Given the description of an element on the screen output the (x, y) to click on. 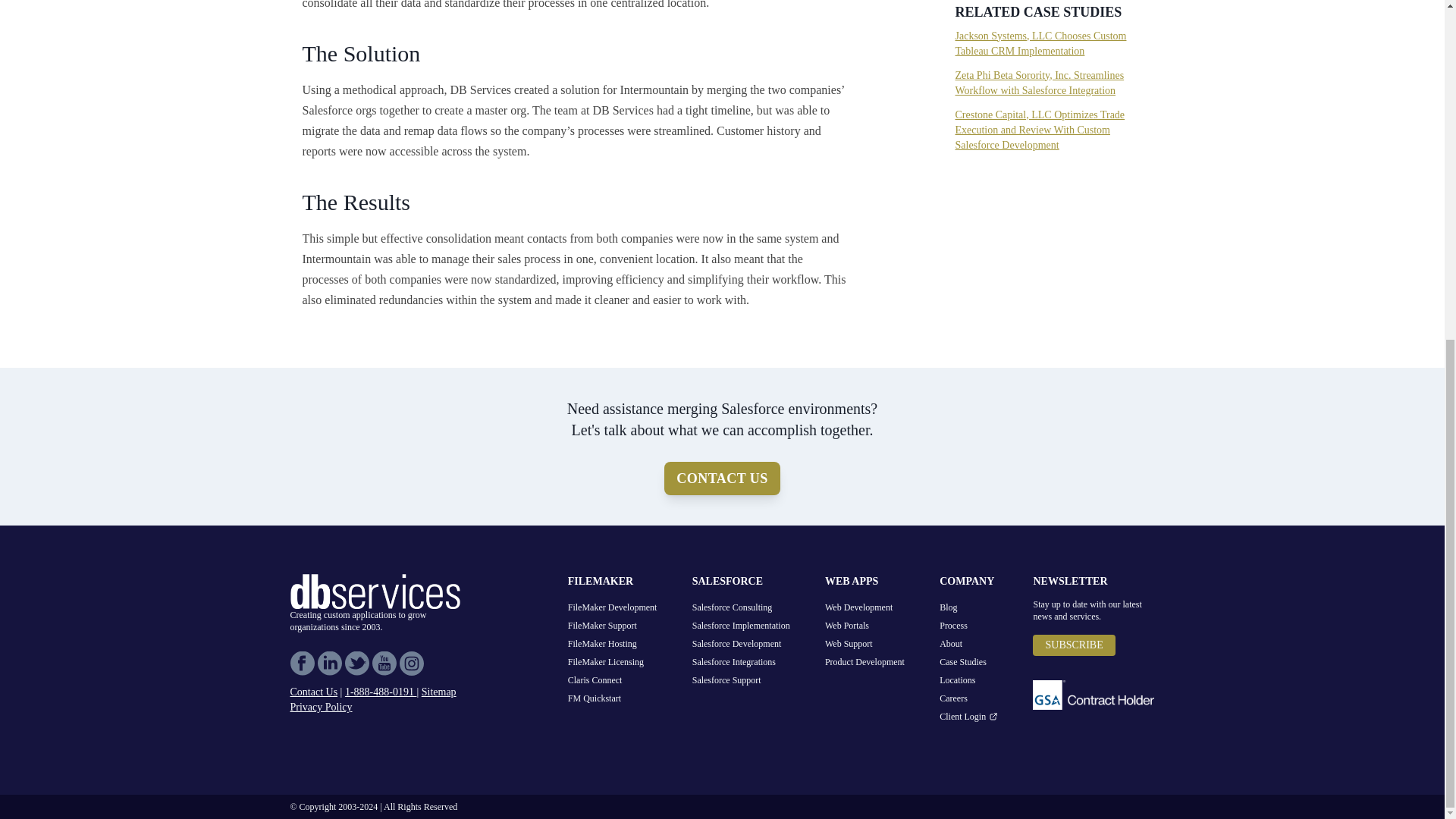
Subscribe (1073, 645)
